Given the description of an element on the screen output the (x, y) to click on. 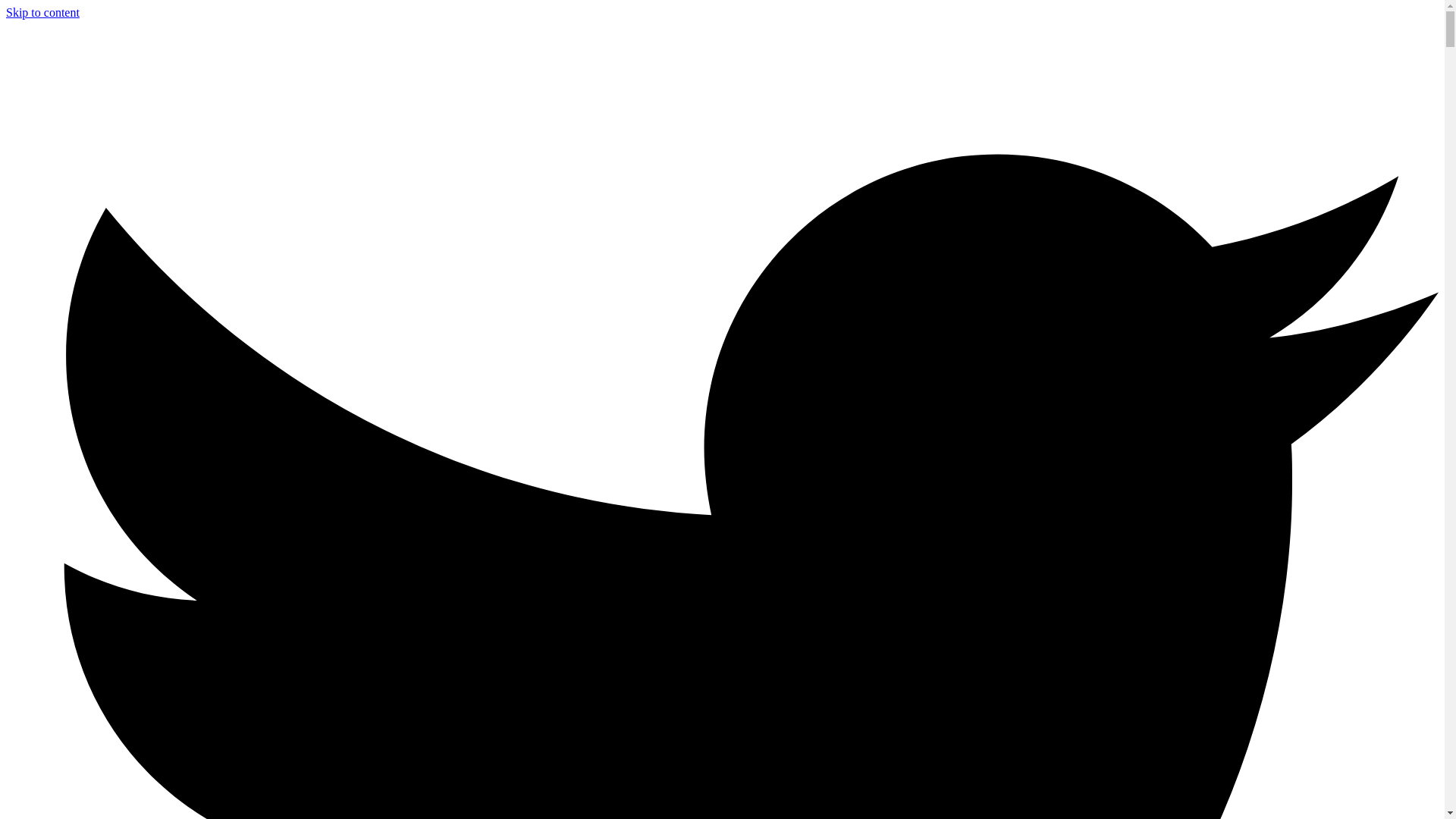
Skip to content (42, 11)
Skip to content (42, 11)
